Given the description of an element on the screen output the (x, y) to click on. 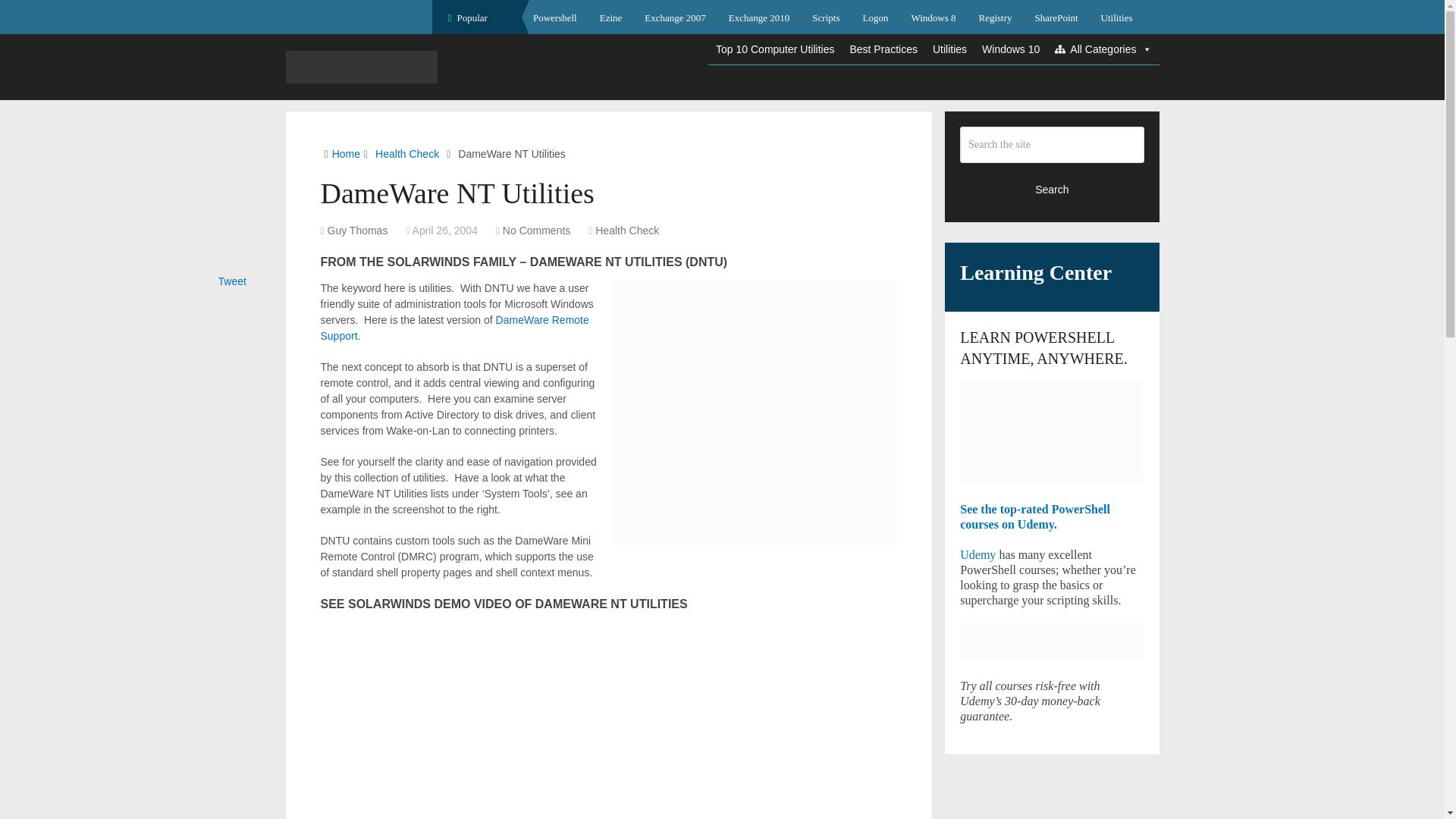
Posts by Guy Thomas (357, 230)
Top 10 Computer Utilities (774, 49)
Registry (994, 17)
Powershell (554, 17)
SharePoint (1056, 17)
Windows 10 (1010, 49)
Utilities (1116, 17)
Ezine (610, 17)
Exchange 2010 (759, 17)
Best Practices (882, 49)
